Given the description of an element on the screen output the (x, y) to click on. 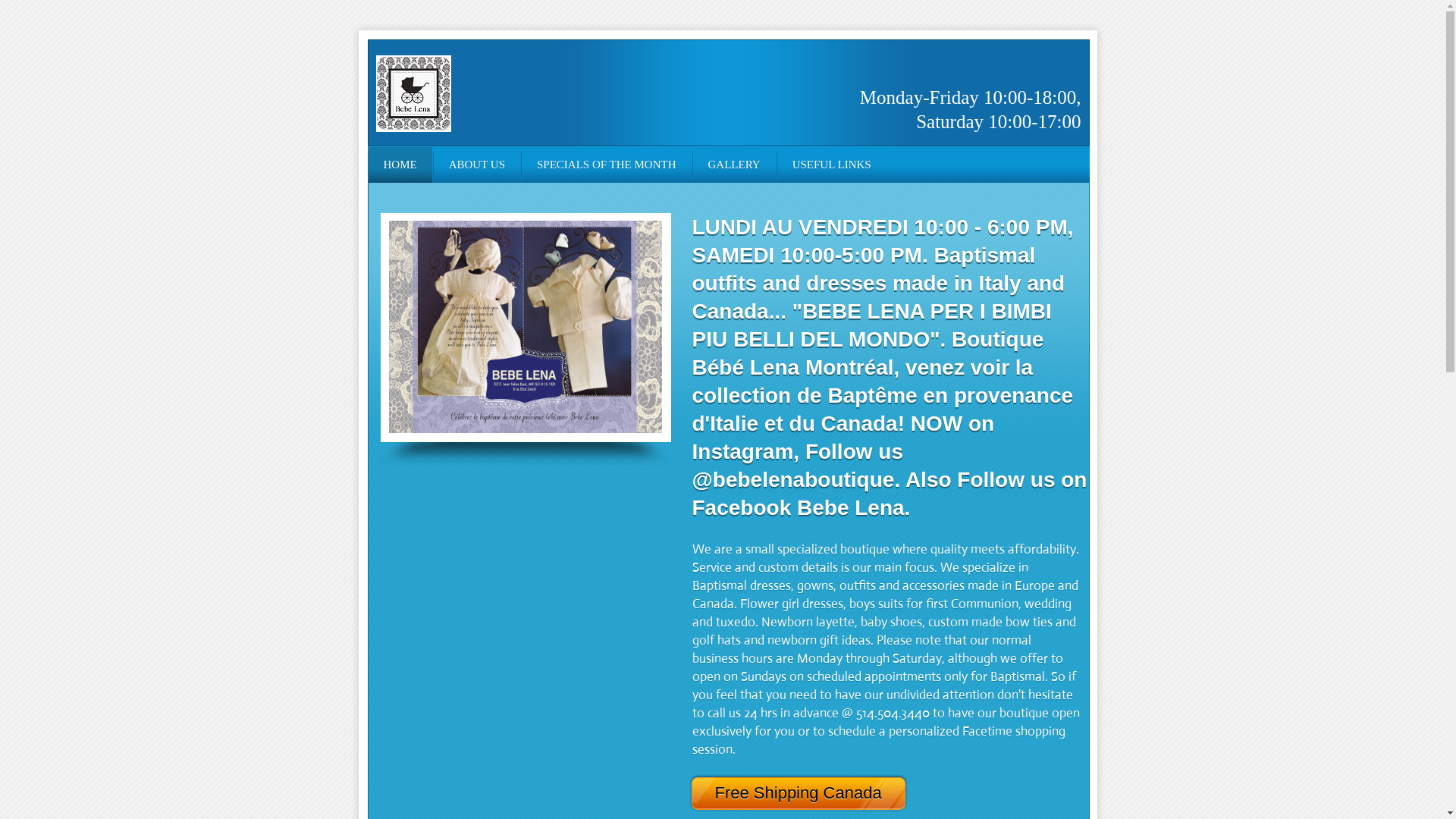
ABOUT US Element type: text (476, 164)
Free Shipping Canada Element type: text (810, 793)
Monday-Friday 10:00-18:00, Saturday 10:00-17:00 Element type: text (970, 109)
SPECIALS OF THE MONTH Element type: text (606, 164)
HOME Element type: text (400, 164)
GALLERY Element type: text (734, 164)
USEFUL LINKS Element type: text (831, 164)
